Given the description of an element on the screen output the (x, y) to click on. 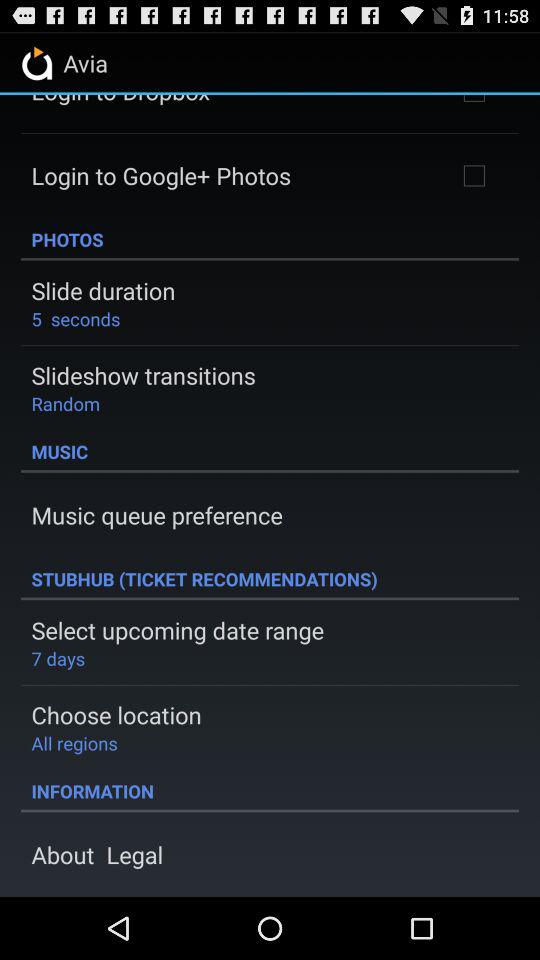
jump until 5  seconds app (75, 318)
